Given the description of an element on the screen output the (x, y) to click on. 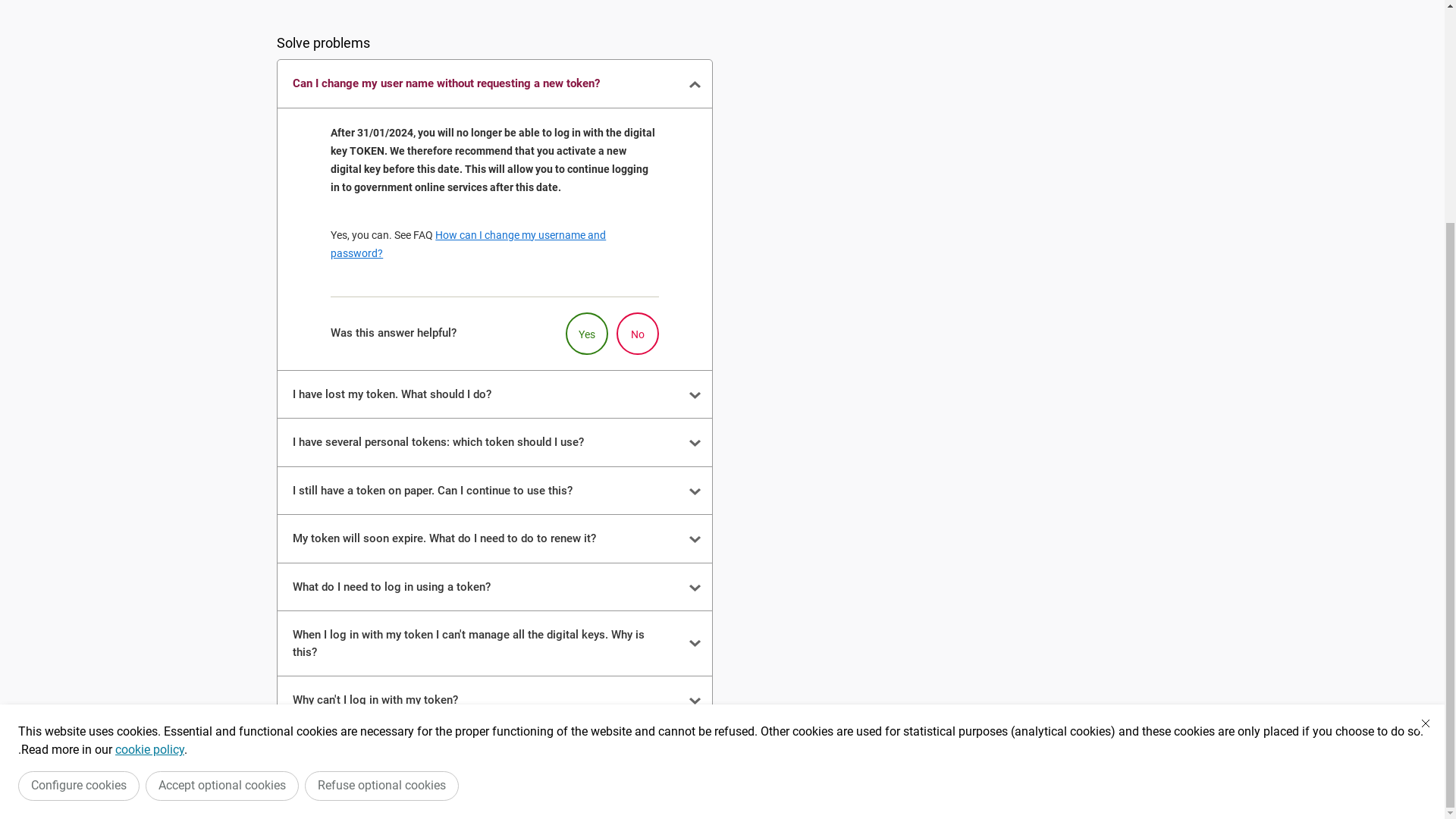
Instructional Videos Element type: text (453, 160)
nl Element type: text (288, 17)
I have several personal tokens: which token should I use? Element type: text (494, 739)
Contact us Element type: text (557, 160)
en Element type: text (376, 17)
Question & Answer Element type: text (326, 160)
How can I change my username and password? Element type: text (467, 539)
de Element type: text (346, 17)
fr Element type: text (317, 17)
I still have a token on paper. Can I continue to use this? Element type: text (494, 786)
Can I change my user name without requesting a new token? Element type: text (494, 380)
I have lost my token. What should I do? Element type: text (494, 691)
Skip to main content Element type: text (7, 4)
Apply Element type: text (1140, 238)
Back to the home page Element type: hover (340, 83)
